Given the description of an element on the screen output the (x, y) to click on. 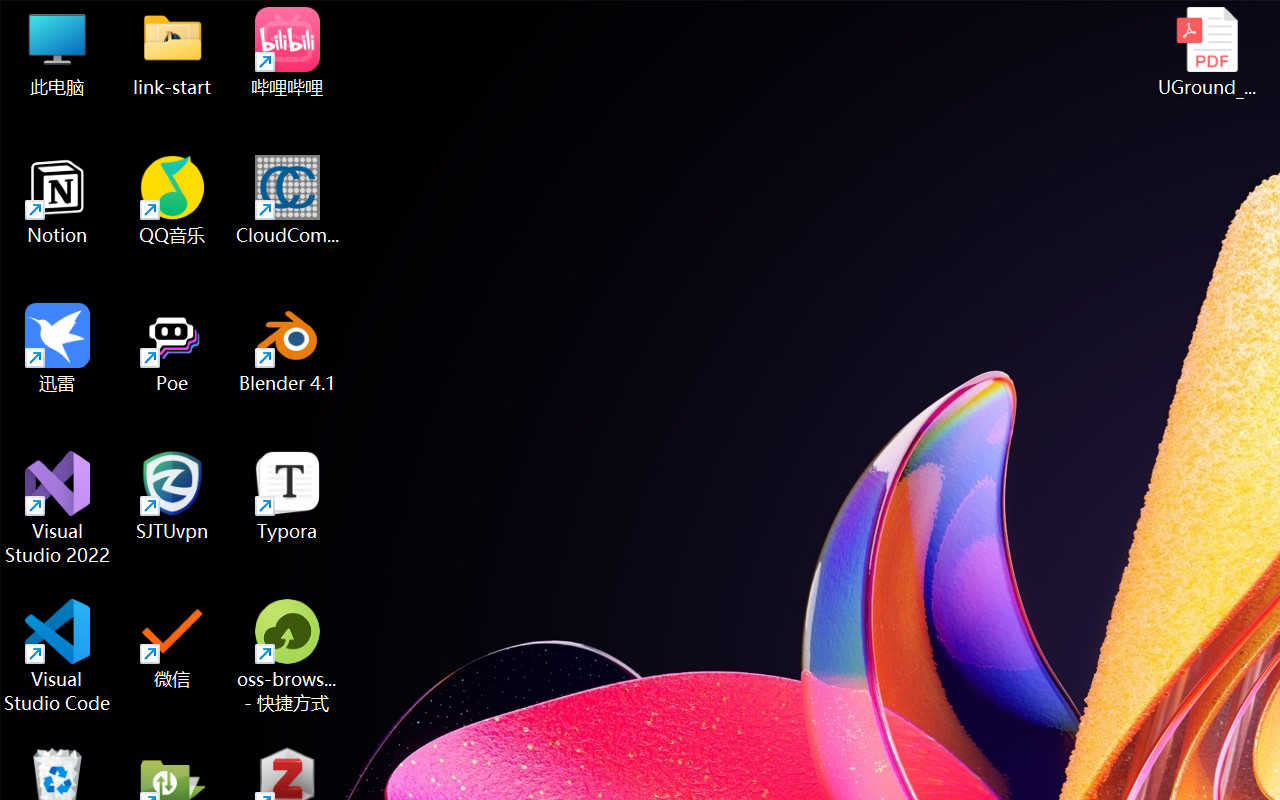
UGround_paper.pdf (1206, 52)
Blender 4.1 (287, 348)
Typora (287, 496)
Visual Studio Code (57, 656)
Visual Studio 2022 (57, 508)
SJTUvpn (172, 496)
CloudCompare (287, 200)
